Given the description of an element on the screen output the (x, y) to click on. 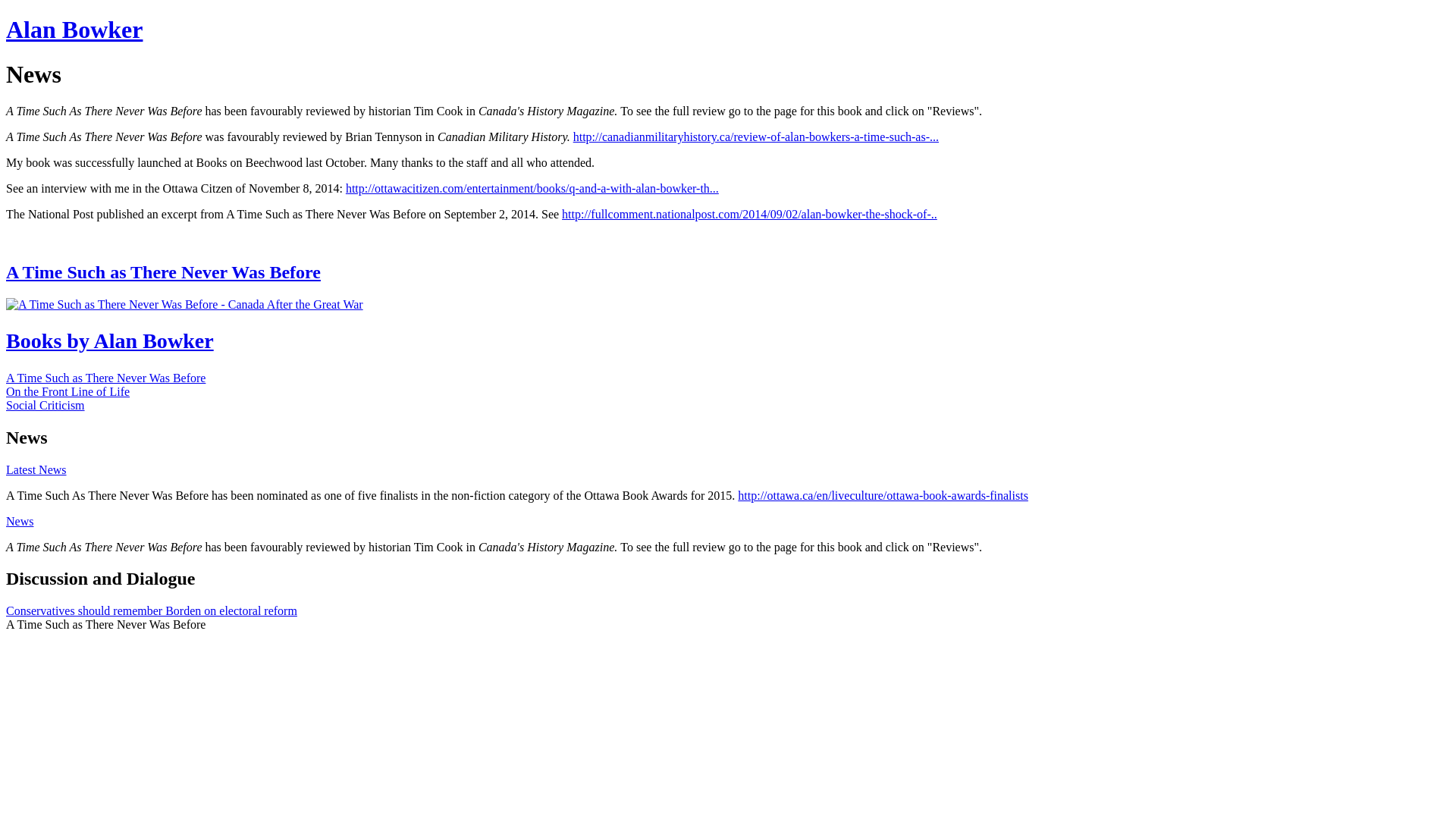
Latest News Element type: text (36, 469)
Social Criticism Element type: text (45, 404)
http://ottawa.ca/en/liveculture/ottawa-book-awards-finalists Element type: text (882, 495)
Books by Alan Bowker Element type: text (727, 341)
News Element type: text (19, 520)
A Time Such as There Never Was Before Element type: text (105, 377)
On the Front Line of Life Element type: text (67, 391)
Conservatives should remember Borden on electoral reform Element type: text (151, 610)
Alan Bowker Element type: text (74, 29)
Jump to navigation Element type: text (52, 15)
A Time Such as There Never Was Before Element type: text (727, 272)
